Given the description of an element on the screen output the (x, y) to click on. 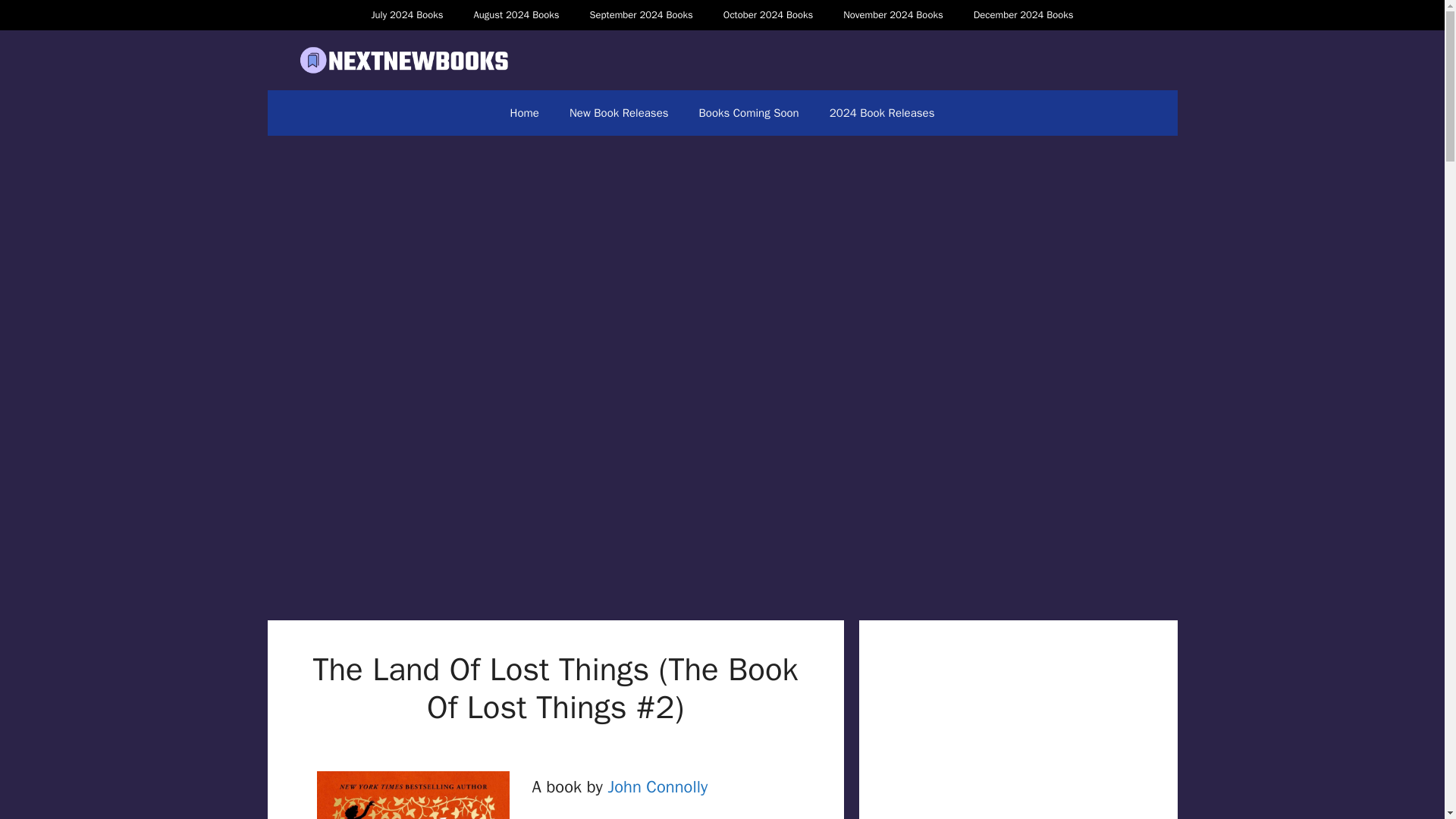
New Book Releases (619, 112)
Advertisement (1017, 734)
John Connolly (657, 786)
November 2024 Books (893, 15)
August 2024 Books (515, 15)
December 2024 Books (1023, 15)
2024 Book Releases (881, 112)
July 2024 Books (406, 15)
September 2024 Books (640, 15)
Home (524, 112)
Books Coming Soon (748, 112)
October 2024 Books (767, 15)
